Given the description of an element on the screen output the (x, y) to click on. 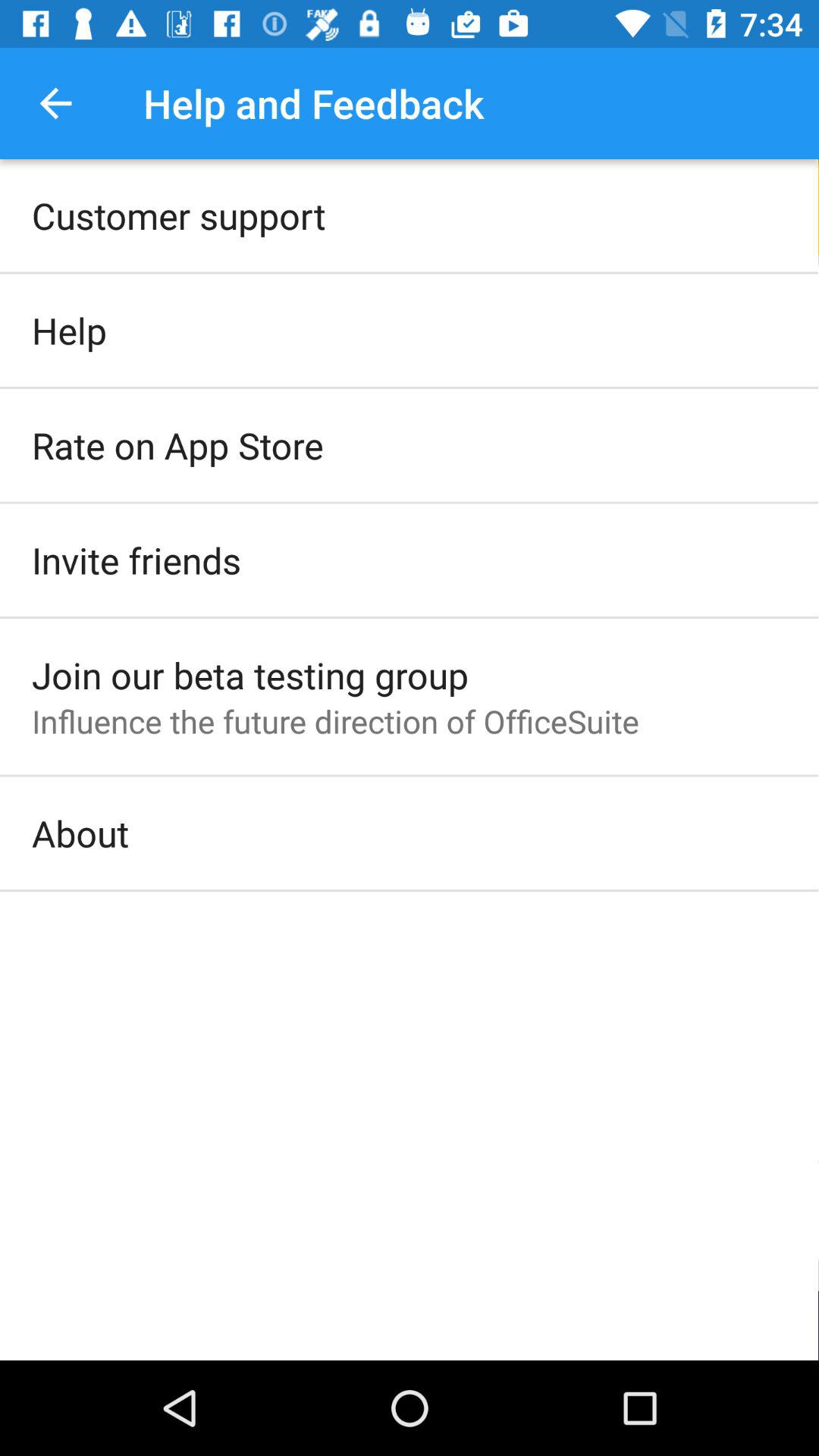
choose the item above customer support icon (55, 103)
